Given the description of an element on the screen output the (x, y) to click on. 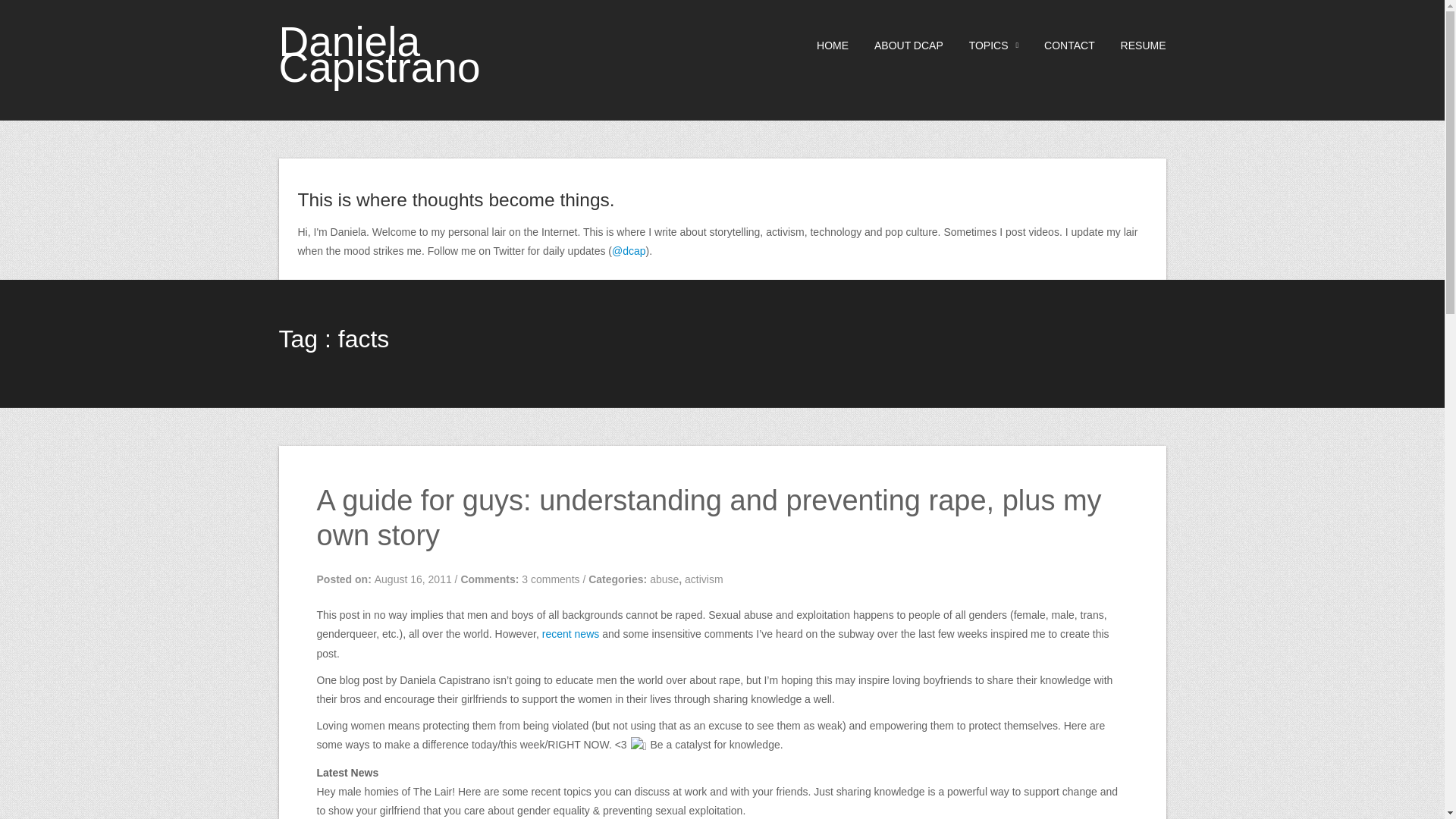
Daniela Capistrano (379, 54)
Daniela Capistrano (379, 54)
activism (703, 579)
recent news (569, 633)
ABOUT DCAP (897, 45)
3 comments (550, 579)
abuse (663, 579)
